Given the description of an element on the screen output the (x, y) to click on. 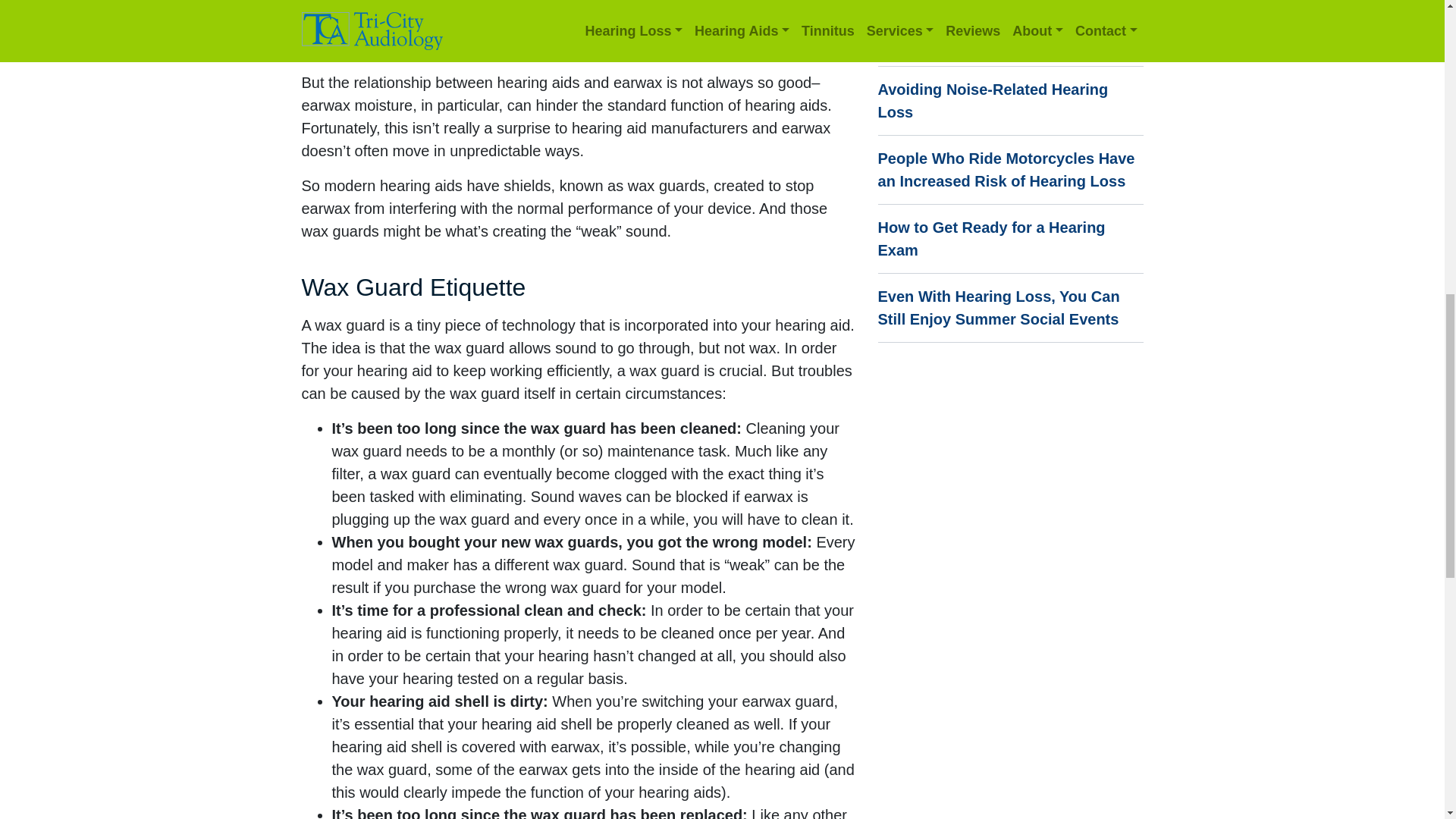
great things (517, 5)
